Given the description of an element on the screen output the (x, y) to click on. 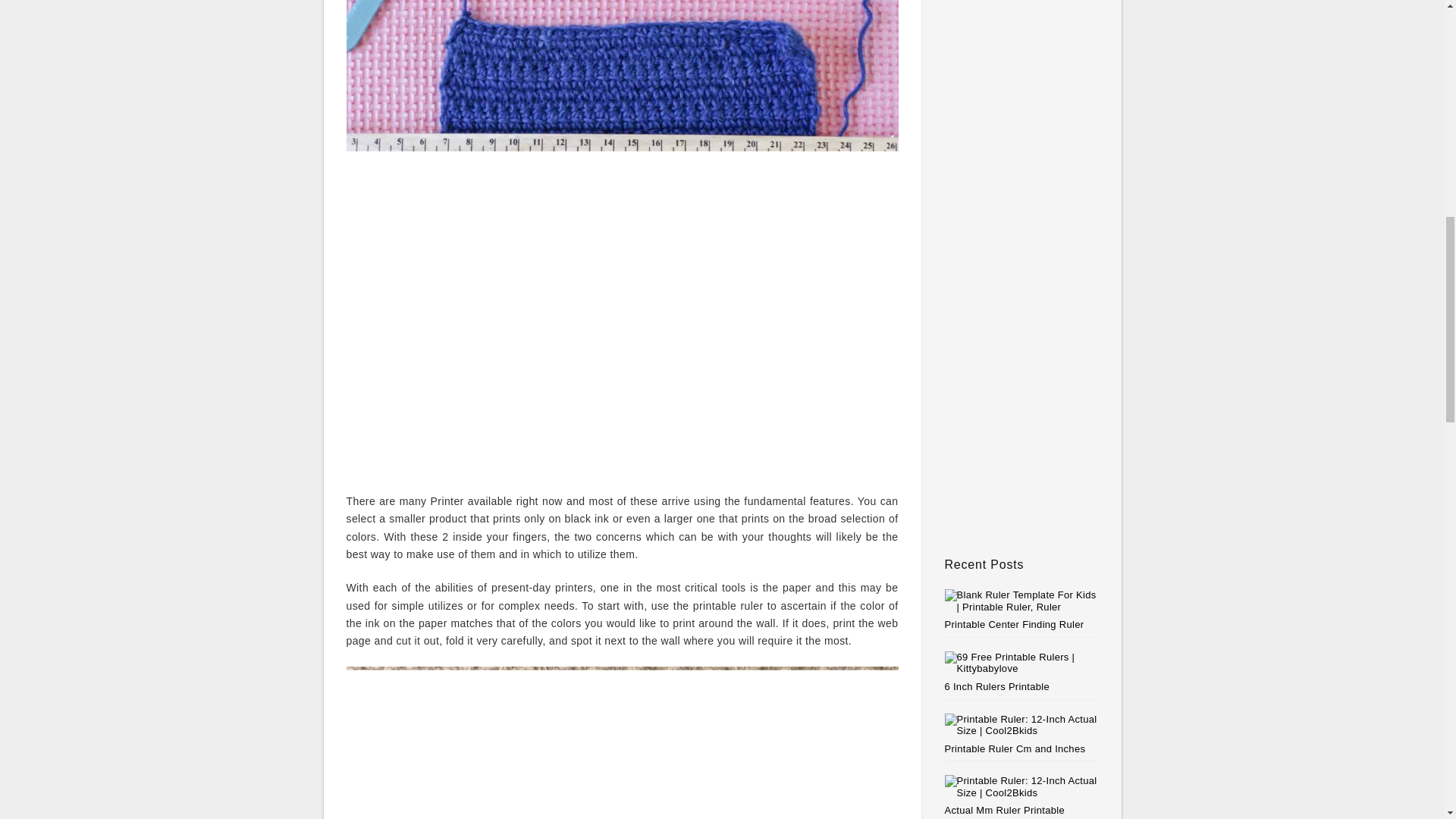
6 Inch Rulers Printable (996, 686)
Actual Mm Ruler Printable (1004, 809)
Printable Center Finding Ruler (1014, 624)
Printable Ruler Cm and Inches (1015, 748)
measuring crochet gauge new stitch a day (622, 742)
